Given the description of an element on the screen output the (x, y) to click on. 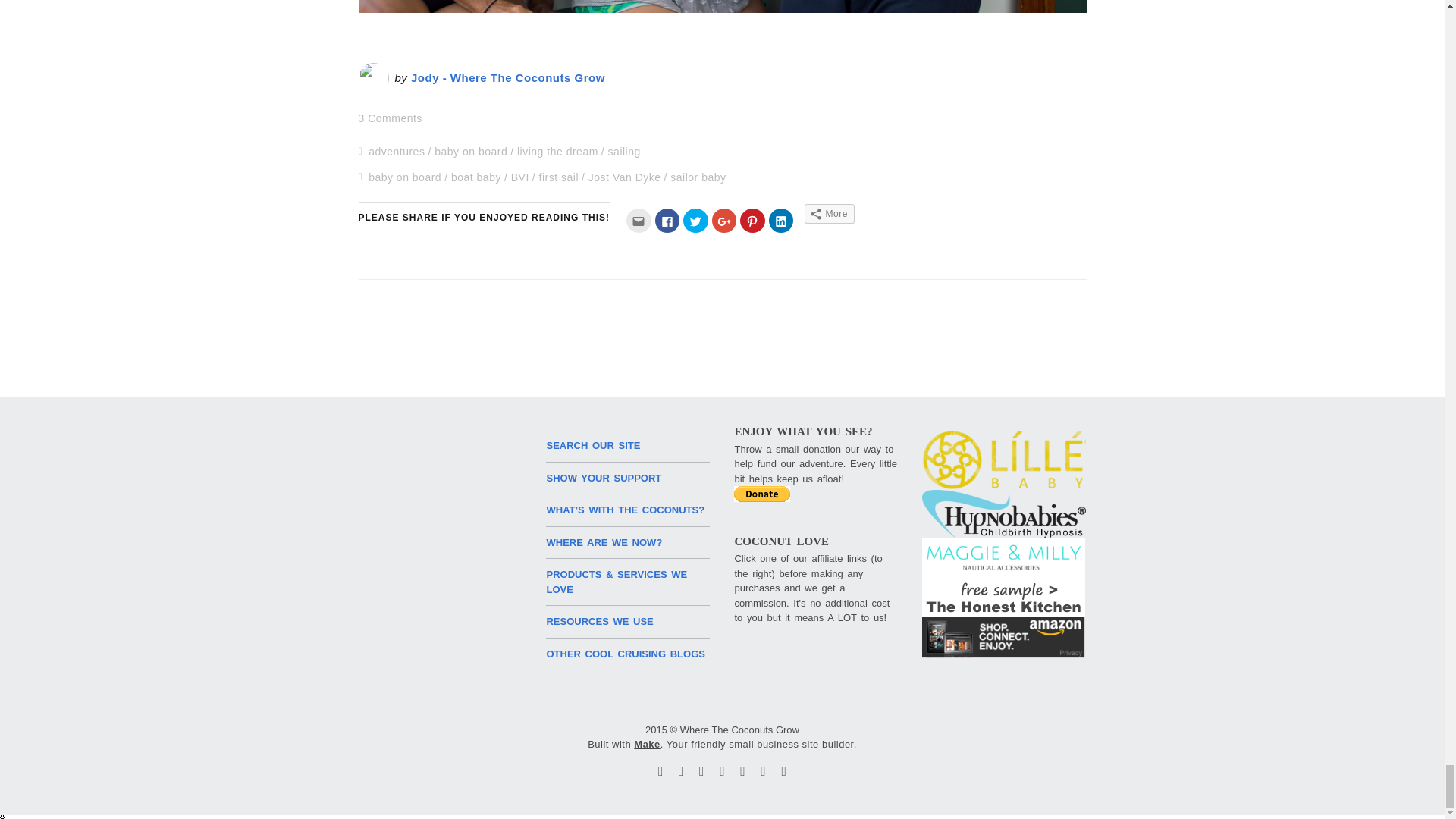
Click to share on LinkedIn (780, 220)
Maggie and Milly nautical accessories (1002, 557)
sailing (624, 151)
The Honest Kitchen Free Sample (1002, 596)
Amazon.com (1002, 637)
Click to share on Pinterest (752, 220)
Click to email this to a friend (638, 220)
PayPal - The safer, easier way to pay online! (761, 494)
LILLEbaby Carriers (1003, 459)
adventures (396, 151)
living the dream (557, 151)
baby on board (469, 151)
3 Comments (390, 118)
boat baby (475, 177)
Jody - Where The Coconuts Grow (507, 77)
